Given the description of an element on the screen output the (x, y) to click on. 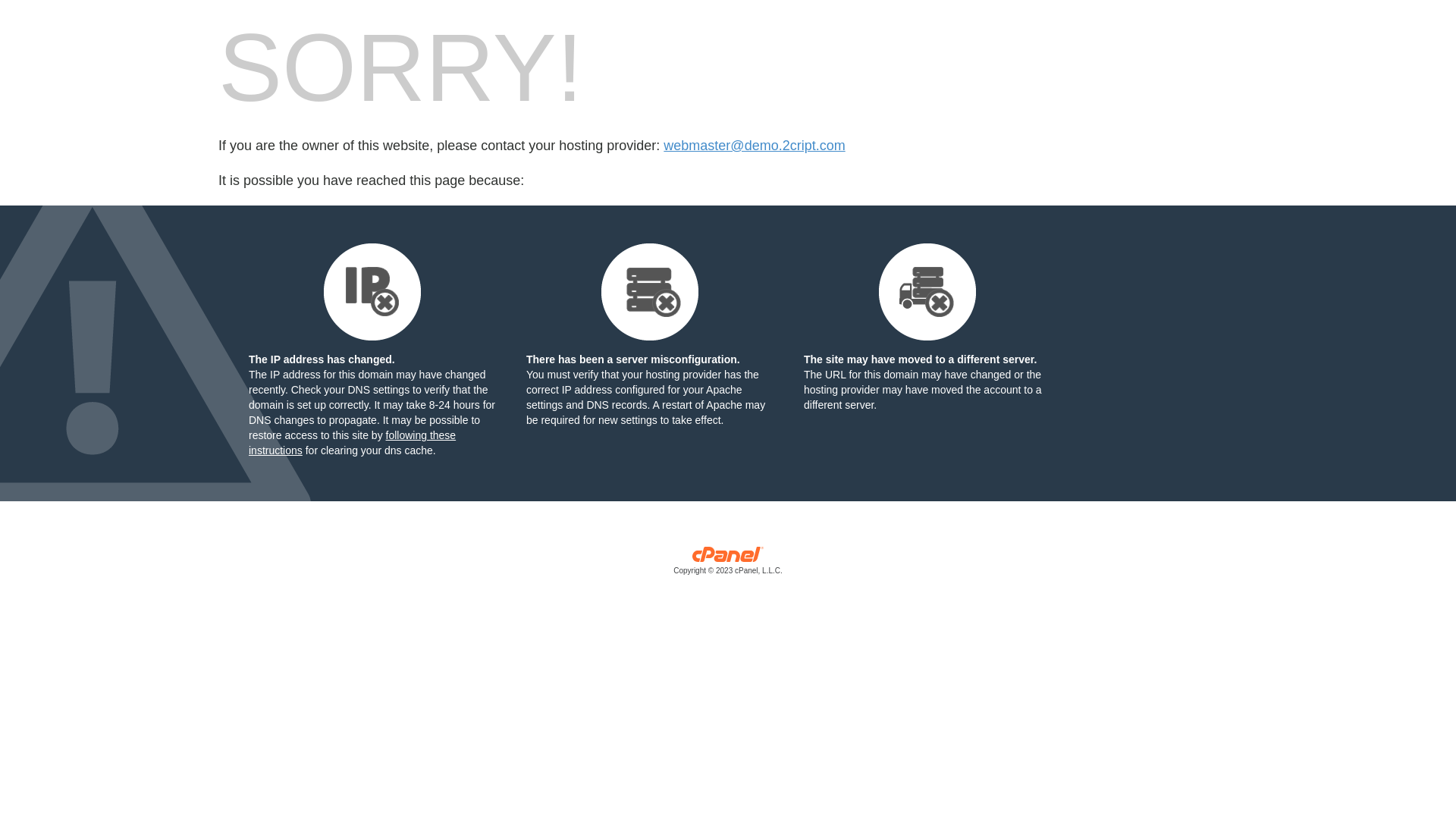
following these instructions Element type: text (351, 442)
webmaster@demo.2cript.com Element type: text (753, 145)
